Given the description of an element on the screen output the (x, y) to click on. 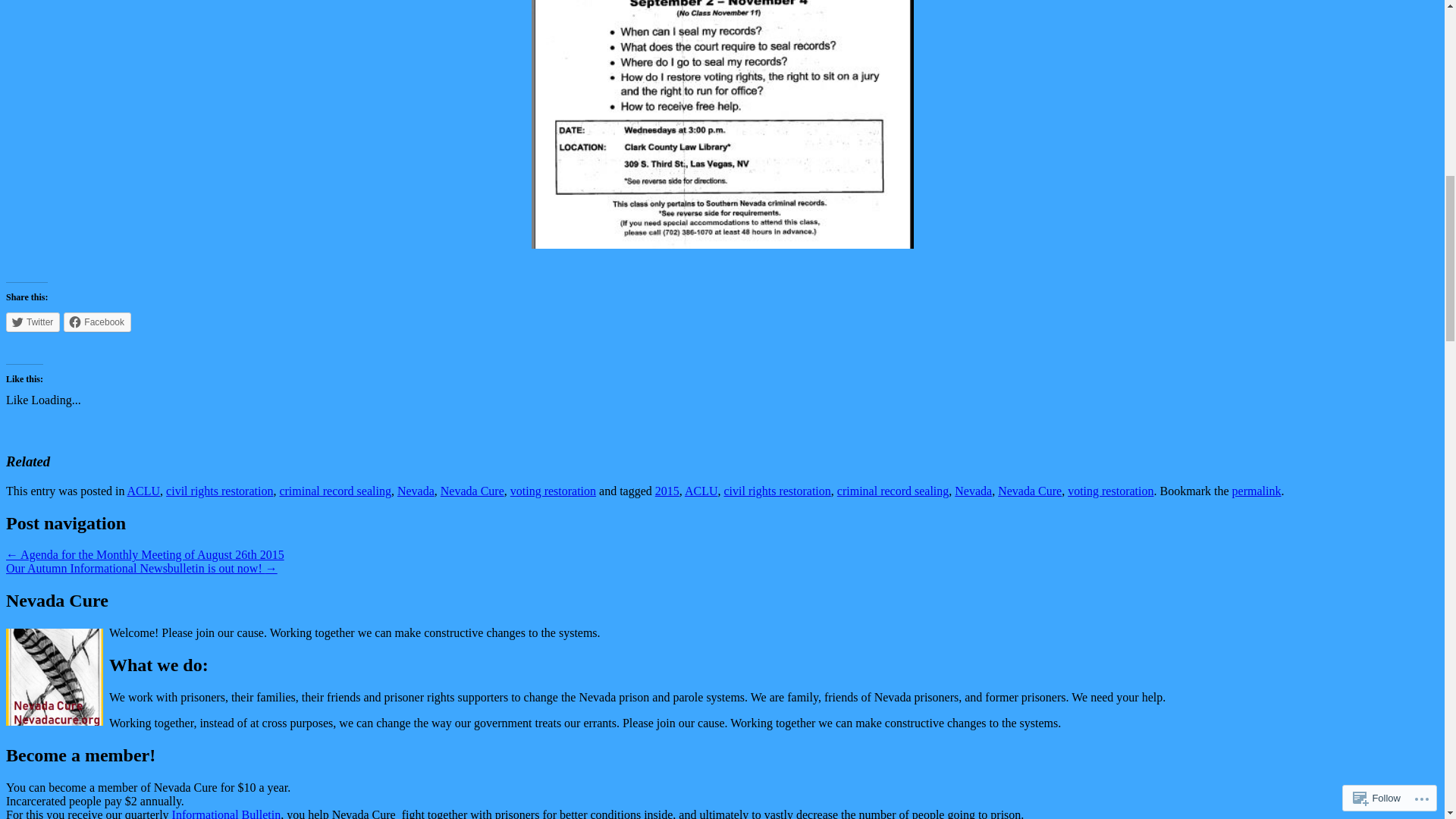
voting restoration (553, 490)
civil rights restoration (776, 490)
criminal record sealing (335, 490)
permalink (1256, 490)
Facebook (97, 322)
criminal record sealing (893, 490)
Twitter (32, 322)
Nevada Cure (1029, 490)
Click to share on Twitter (32, 322)
Nevada Cure (472, 490)
ACLU (700, 490)
Nevada (973, 490)
Nevada (415, 490)
2015 (667, 490)
voting restoration (1110, 490)
